Given the description of an element on the screen output the (x, y) to click on. 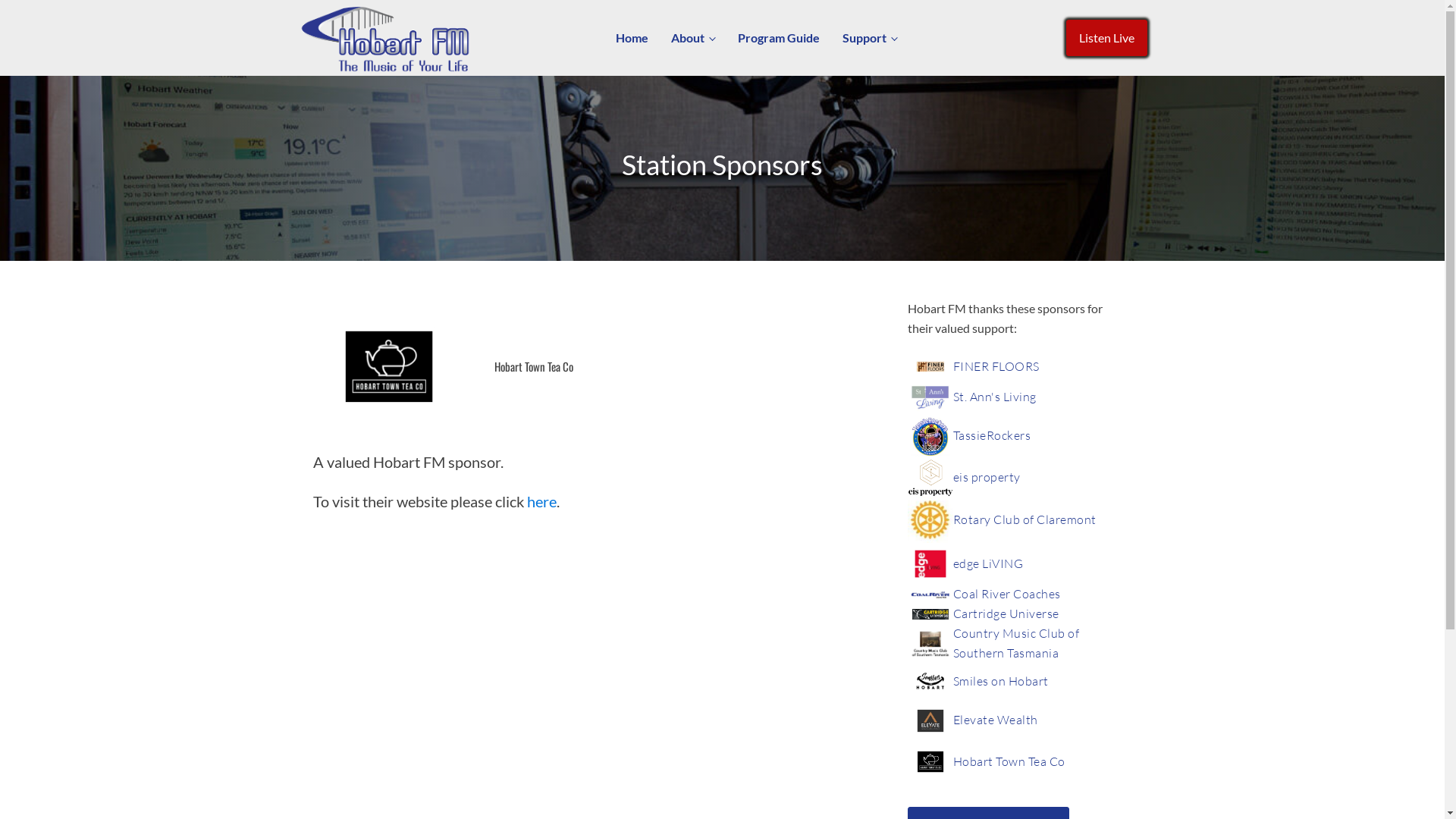
TassieRockers Element type: text (991, 435)
Smiles on Hobart Element type: text (1000, 681)
St. Ann's Living Element type: text (993, 397)
Cartridge Universe Element type: text (1005, 614)
eis property Element type: text (985, 477)
Support Element type: text (869, 37)
Coal River Coaches Element type: text (1006, 594)
Rotary Club of Claremont Element type: text (1023, 520)
Hobart Town Tea Co Element type: text (1008, 761)
Elevate Wealth Element type: text (994, 720)
here Element type: text (540, 501)
FINER FLOORS Element type: text (995, 366)
Country Music Club of Southern Tasmania Element type: text (1031, 643)
edge LiVING Element type: text (987, 564)
About Element type: text (692, 37)
Listen Live Element type: text (1106, 37)
Home Element type: text (631, 37)
Program Guide Element type: text (778, 37)
